Given the description of an element on the screen output the (x, y) to click on. 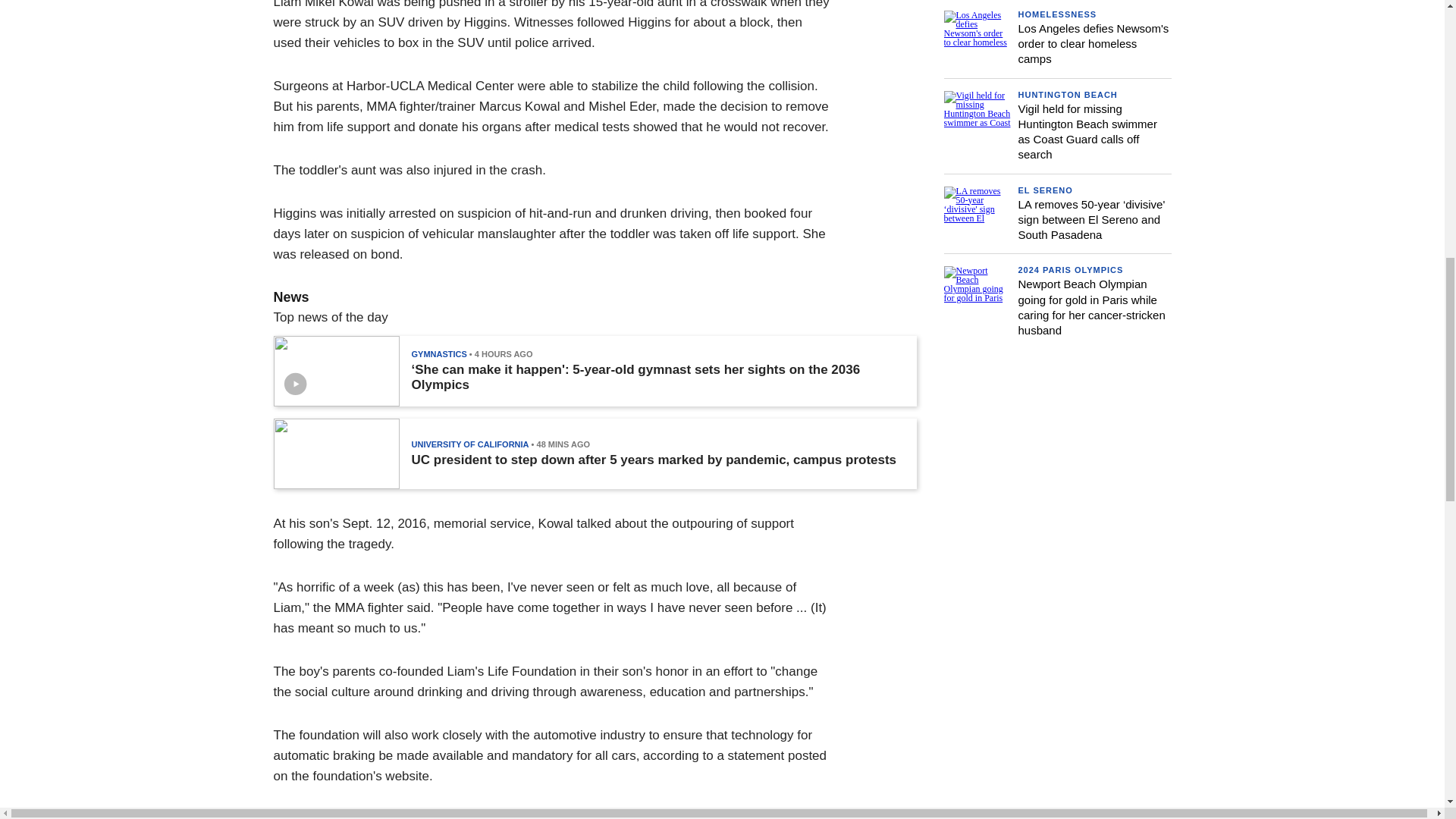
UNIVERSITY OF CALIFORNIA (469, 443)
Los Angeles defies Newsom's order to clear homeless camps (1093, 44)
GYMNASTICS (437, 353)
HOMELESSNESS (1056, 13)
